Given the description of an element on the screen output the (x, y) to click on. 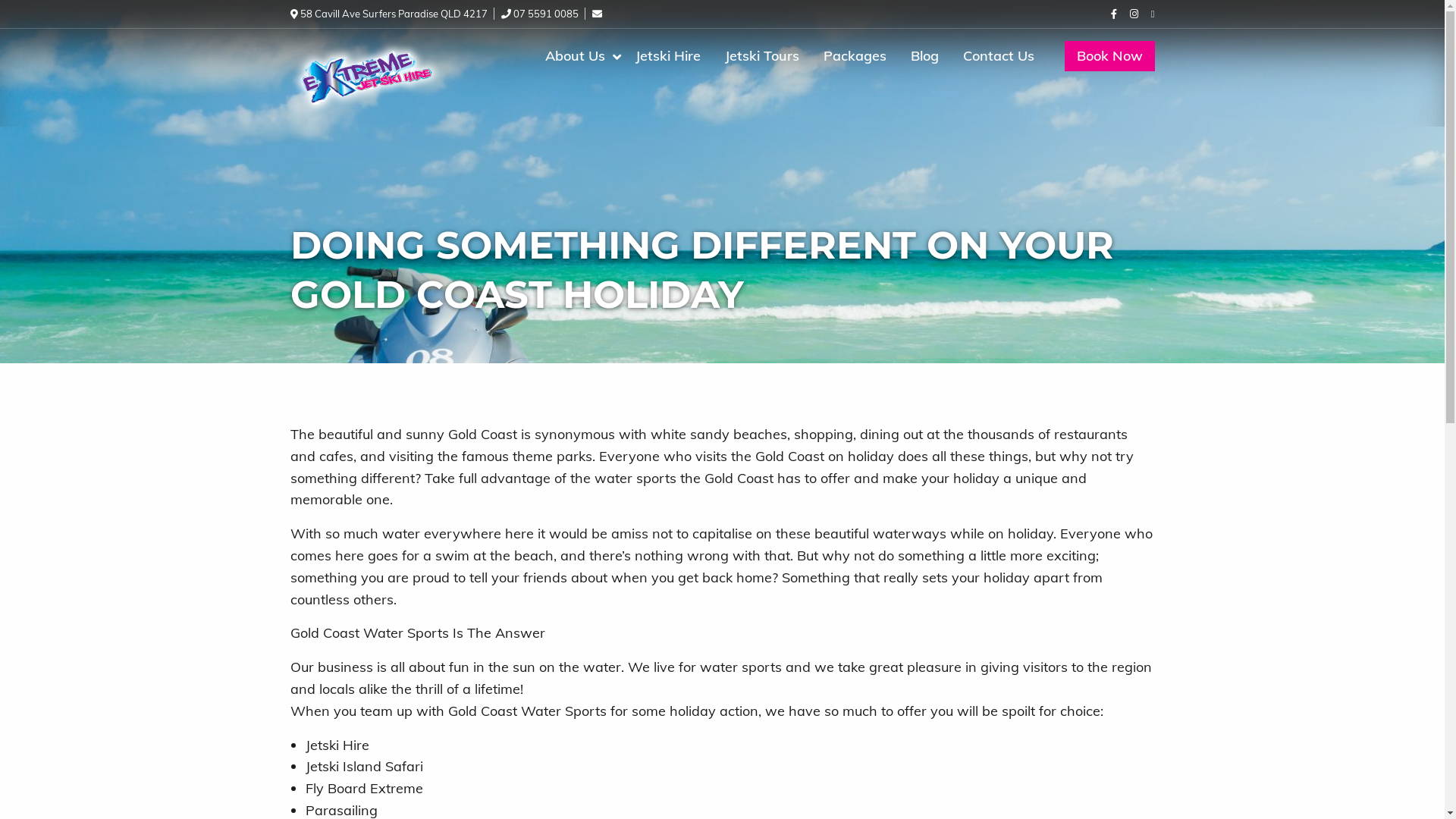
About Us Element type: text (577, 55)
Jetski Hire Element type: text (667, 55)
07 5591 0085 Element type: text (538, 13)
Blog Element type: text (923, 55)
Contact Us Element type: text (998, 55)
Book Now Element type: text (1109, 55)
Jetski Tours Element type: text (761, 55)
Packages Element type: text (854, 55)
